Given the description of an element on the screen output the (x, y) to click on. 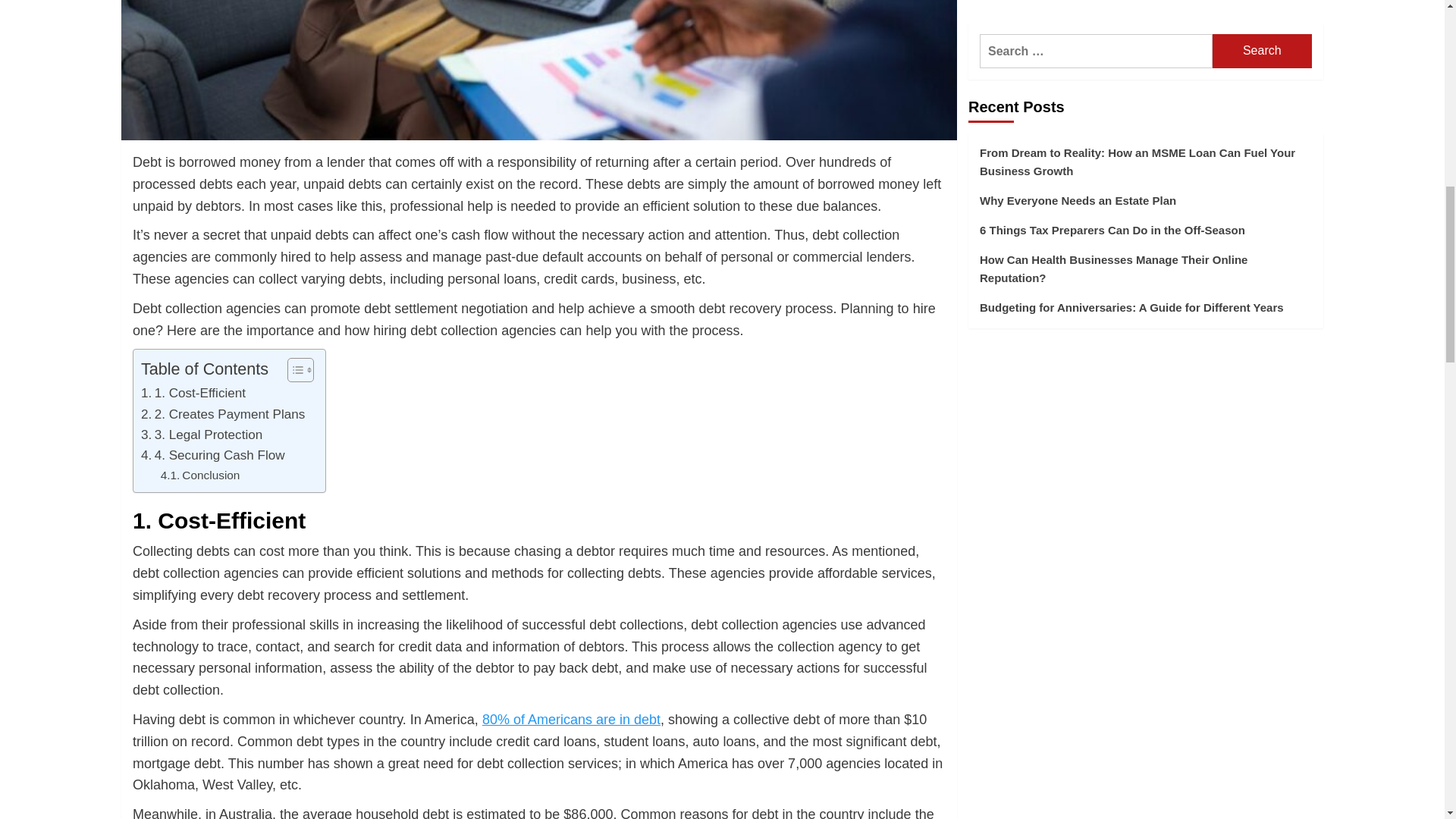
3. Legal Protection (201, 435)
4. Securing Cash Flow (213, 455)
3. Legal Protection (201, 435)
Conclusion (200, 475)
1. Cost-Efficient (193, 393)
1. Cost-Efficient (193, 393)
Conclusion (200, 475)
2. Creates Payment Plans (222, 414)
2. Creates Payment Plans (222, 414)
4. Securing Cash Flow (213, 455)
